Given the description of an element on the screen output the (x, y) to click on. 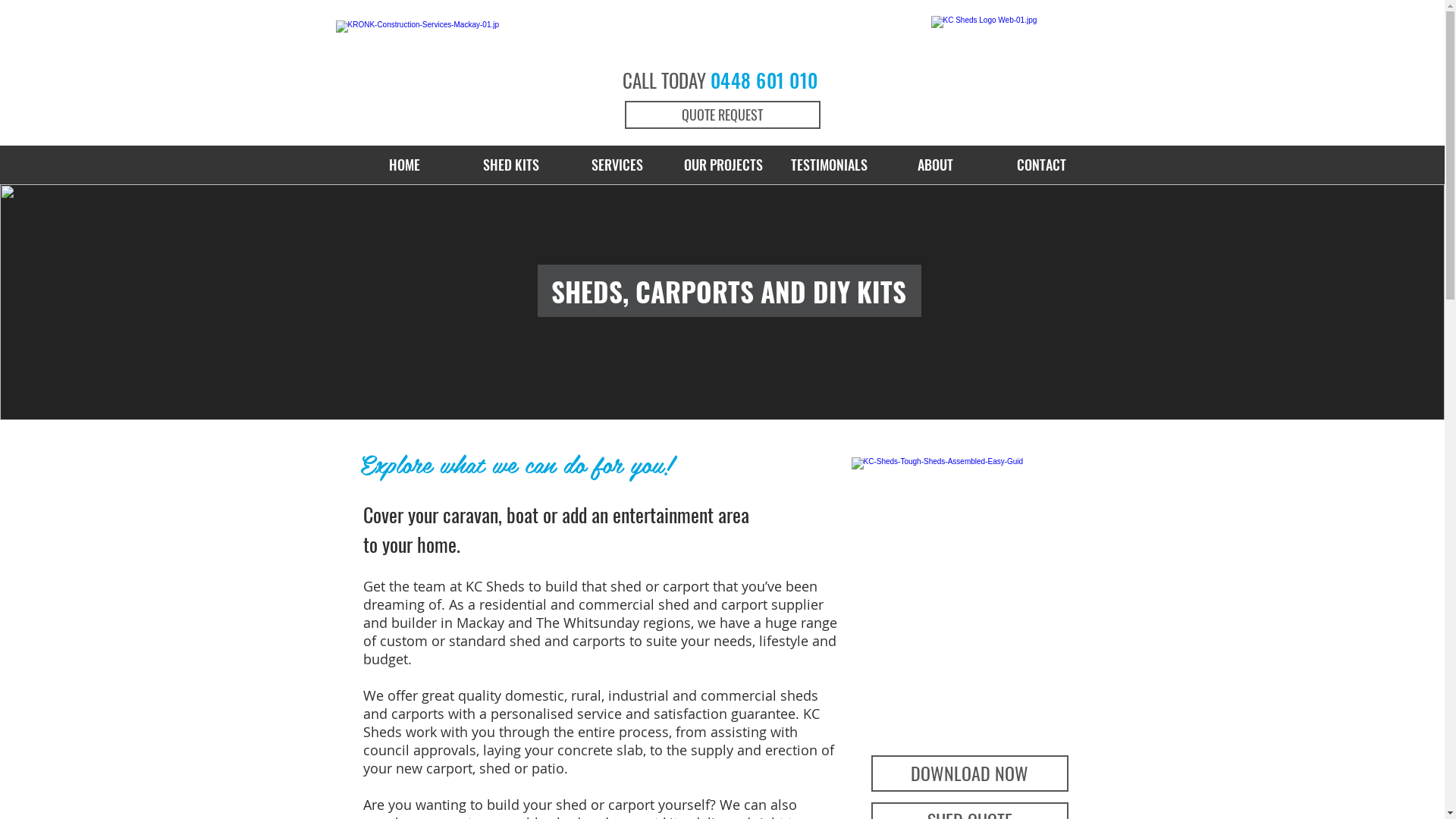
OUR PROJECTS Element type: text (723, 164)
0448 601 010 Element type: text (763, 79)
DOWNLOAD NOW Element type: text (968, 773)
SERVICES Element type: text (617, 164)
QUOTE REQUEST Element type: text (722, 114)
CONTACT Element type: text (1041, 164)
TESTIMONIALS Element type: text (829, 164)
HOME Element type: text (404, 164)
SHED KITS Element type: text (511, 164)
ABOUT Element type: text (935, 164)
